Given the description of an element on the screen output the (x, y) to click on. 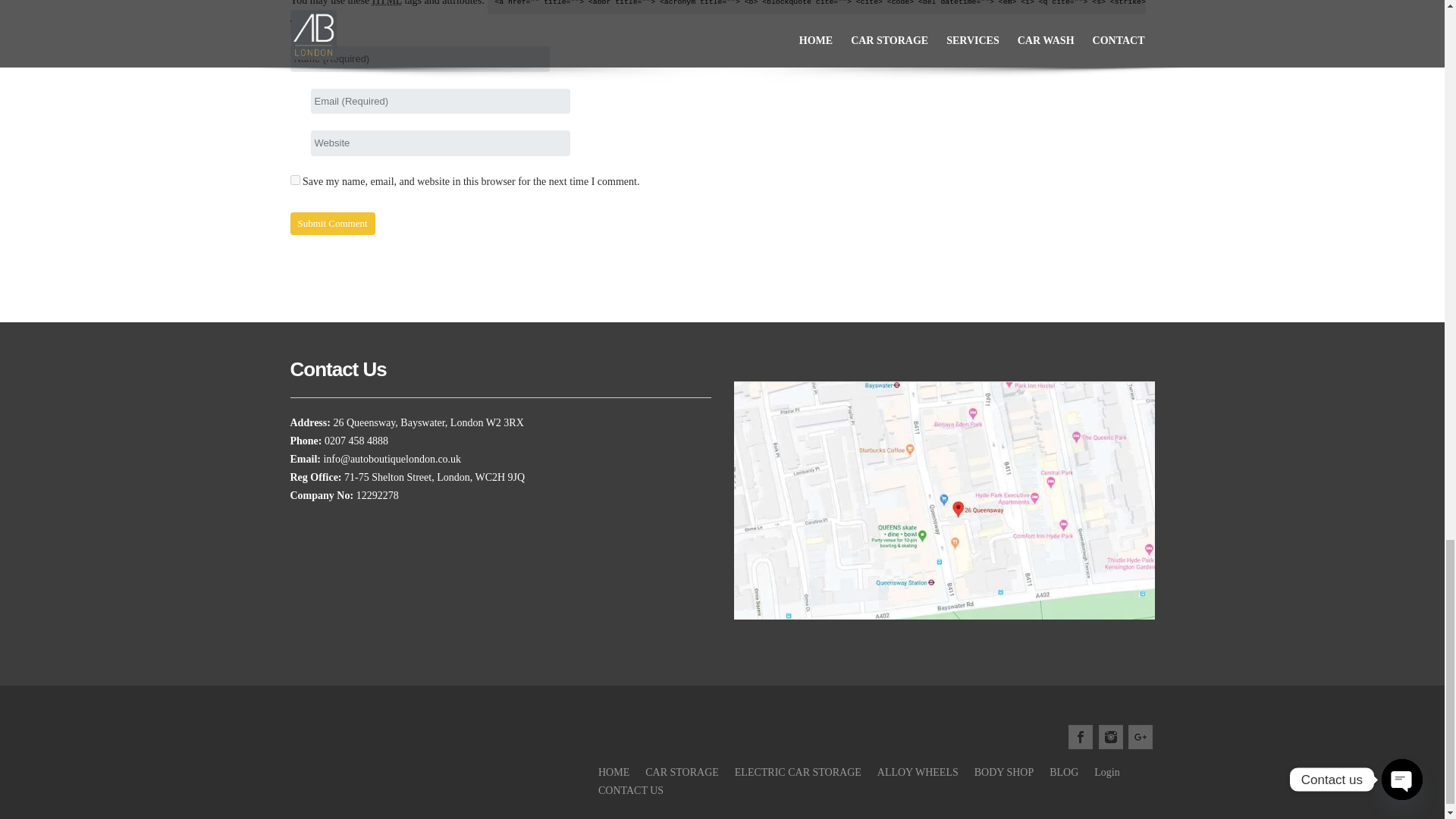
ELECTRIC CAR STORAGE (798, 772)
yes (294, 179)
HyperText Markup Language (386, 2)
Submit Comment (331, 223)
ALLOY WHEELS (917, 772)
CAR STORAGE (682, 772)
HOME (613, 772)
Submit Comment (331, 223)
